Given the description of an element on the screen output the (x, y) to click on. 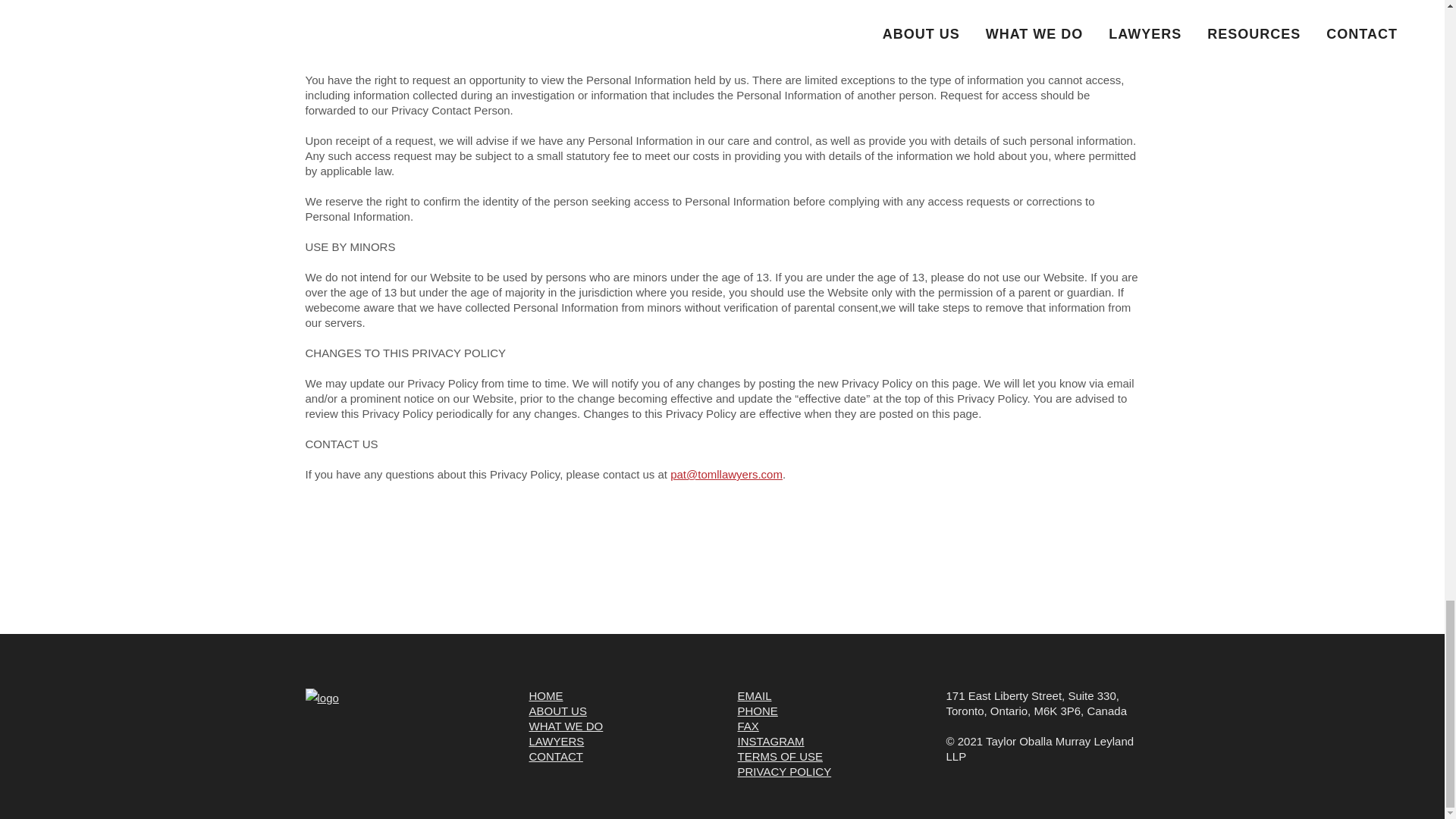
HOME (546, 695)
ABOUT US (557, 710)
LAWYERS (557, 740)
CONTACT (556, 756)
WHAT WE DO (566, 725)
